Given the description of an element on the screen output the (x, y) to click on. 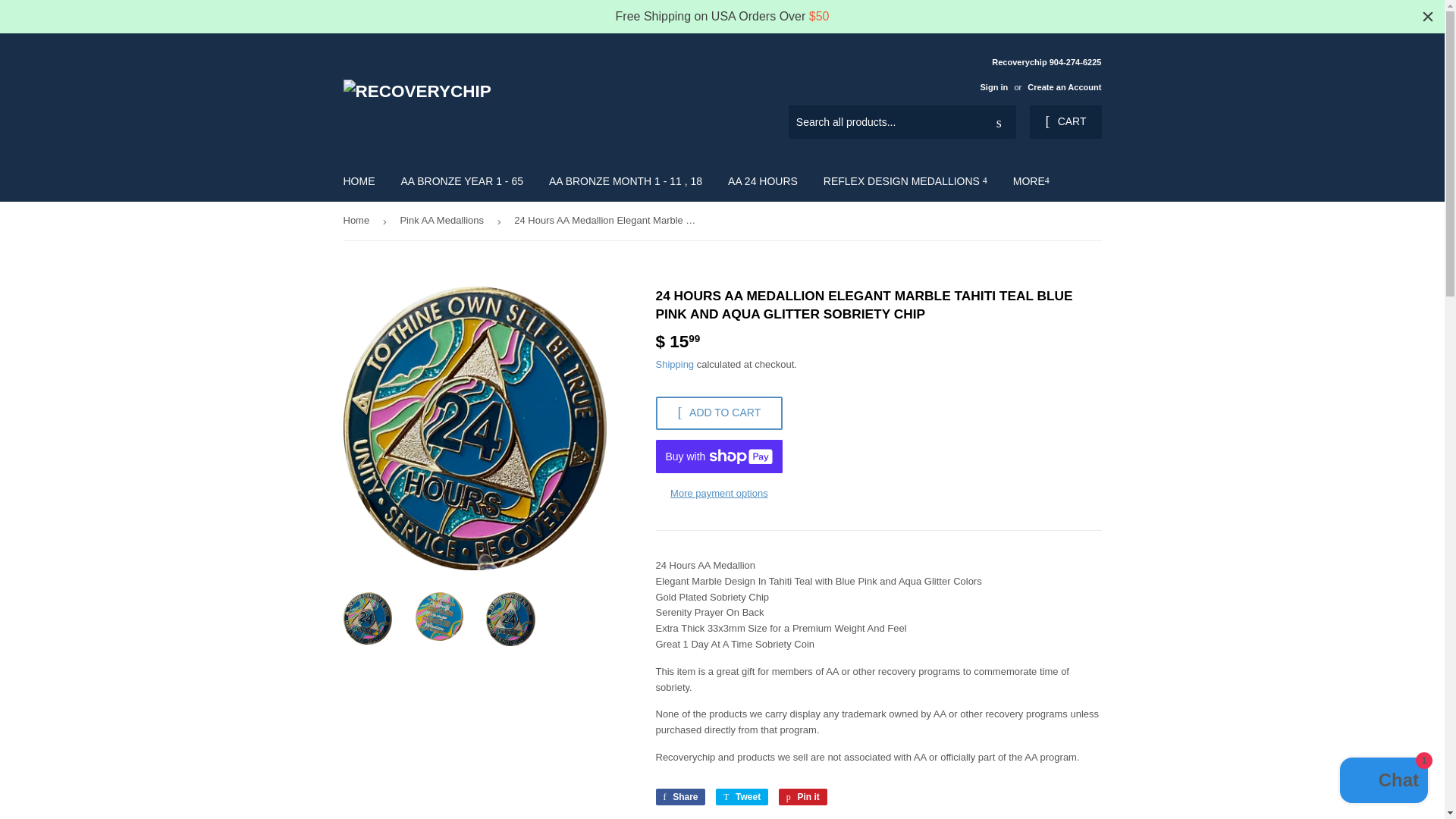
CART (1064, 121)
Create an Account (1063, 86)
Shopify online store chat (1383, 781)
Sign in (993, 86)
Tweet on Twitter (742, 796)
Pin on Pinterest (802, 796)
Recoverychip 904-274-6225 (1034, 73)
Share on Facebook (679, 796)
Search (998, 122)
